Given the description of an element on the screen output the (x, y) to click on. 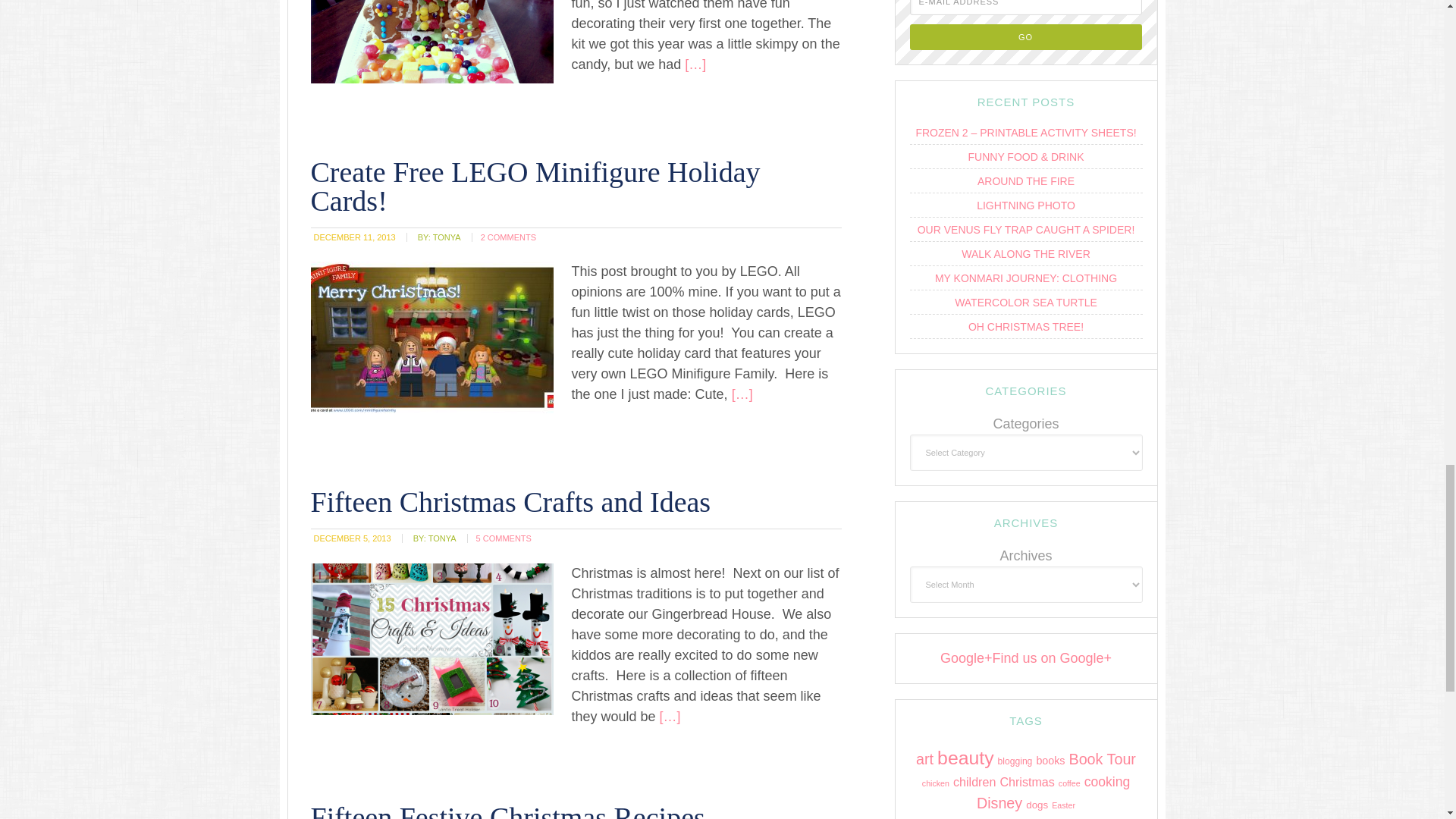
Go (1025, 36)
Fifteen Christmas Crafts and Ideas (511, 501)
5 COMMENTS (503, 537)
2 COMMENTS (507, 235)
Create Free LEGO Minifigure Holiday Cards! (535, 186)
Fifteen Festive Christmas Recipes (507, 809)
